Given the description of an element on the screen output the (x, y) to click on. 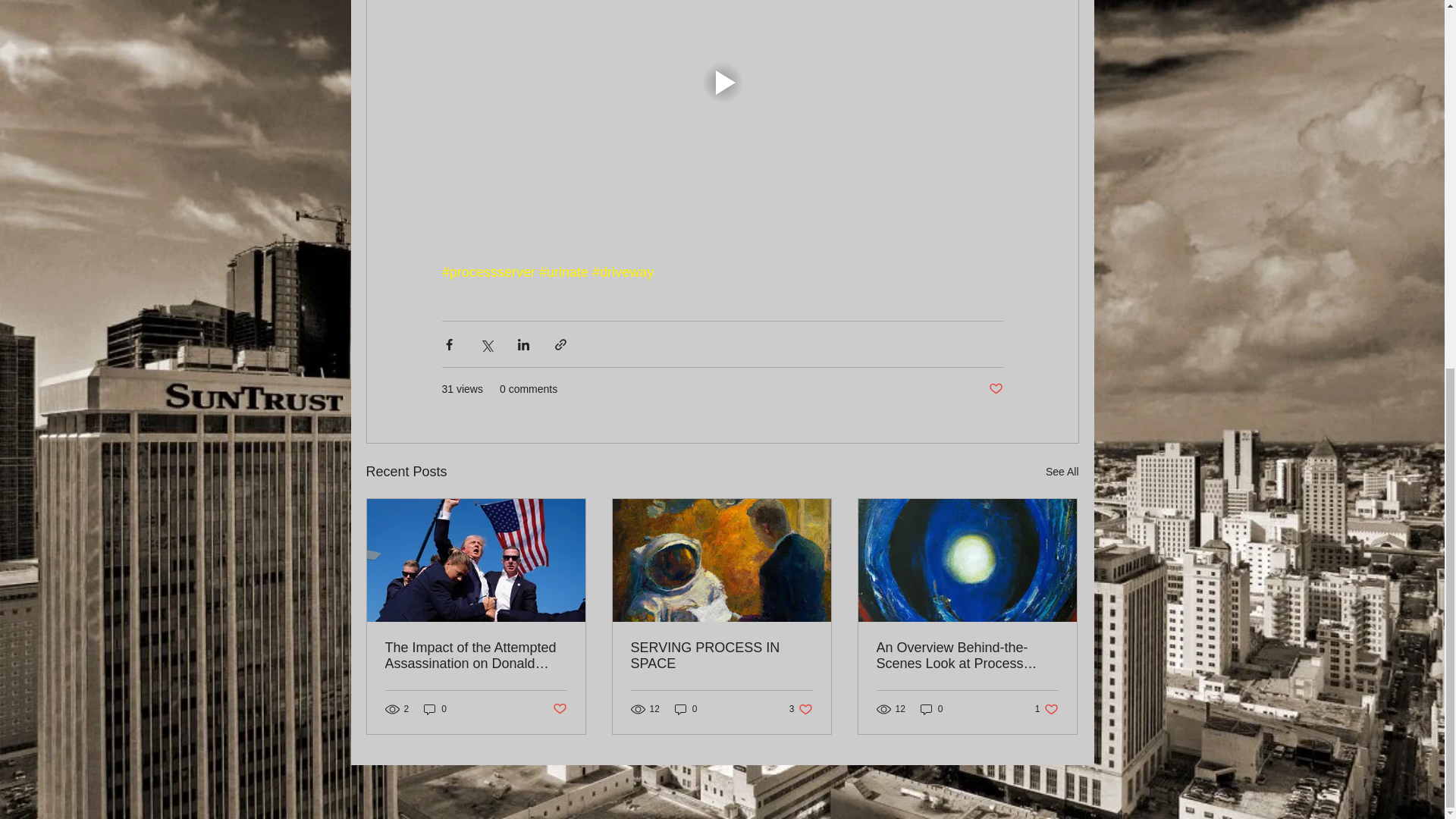
0 (1046, 708)
Post not marked as liked (931, 708)
0 (995, 389)
See All (435, 708)
SERVING PROCESS IN SPACE (1061, 472)
Post not marked as liked (721, 655)
An Overview Behind-the-Scenes Look at Process Service (558, 709)
